Given the description of an element on the screen output the (x, y) to click on. 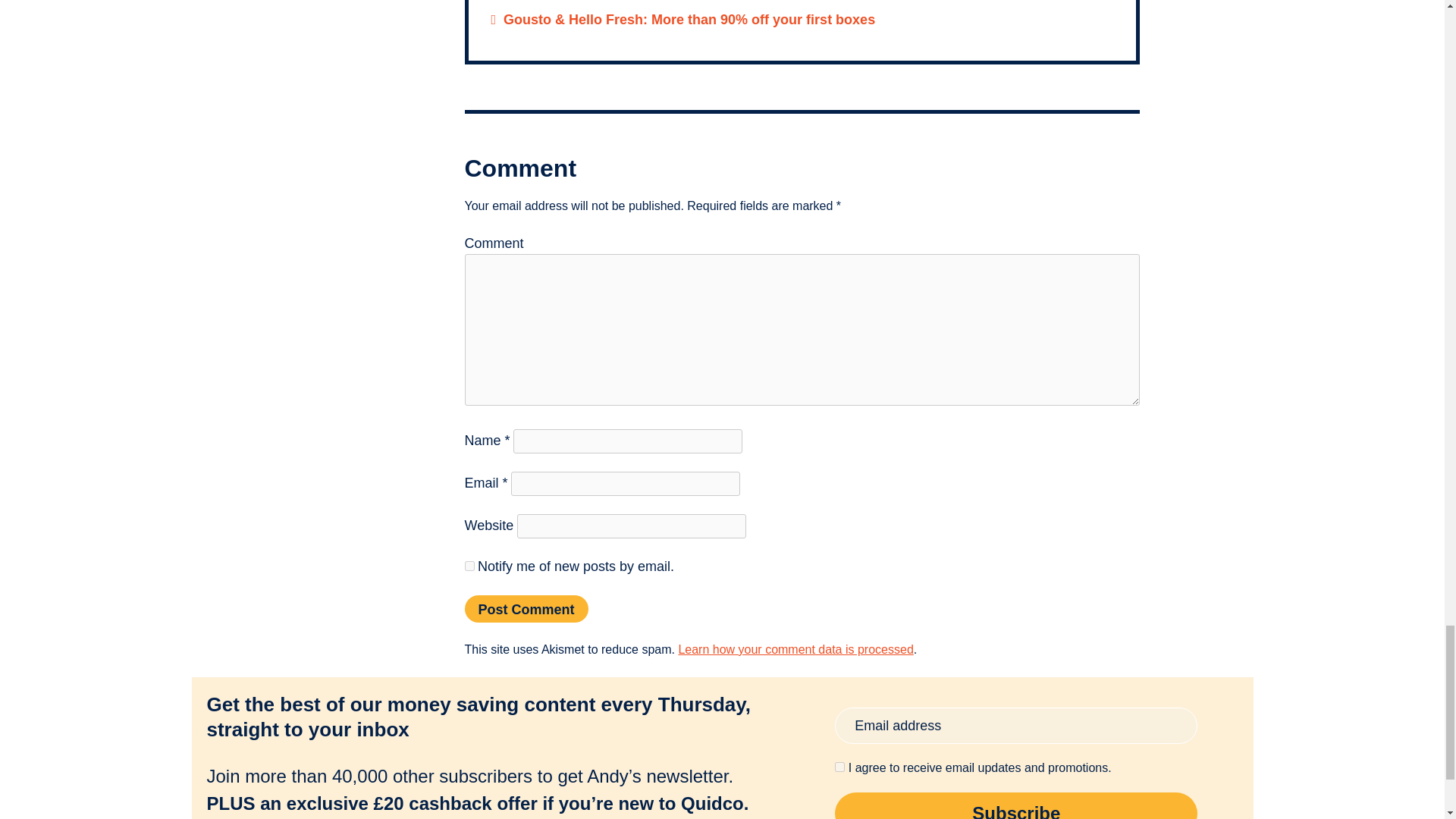
subscribe (469, 565)
Post Comment (526, 608)
Subscribe (1015, 805)
on (839, 767)
